Given the description of an element on the screen output the (x, y) to click on. 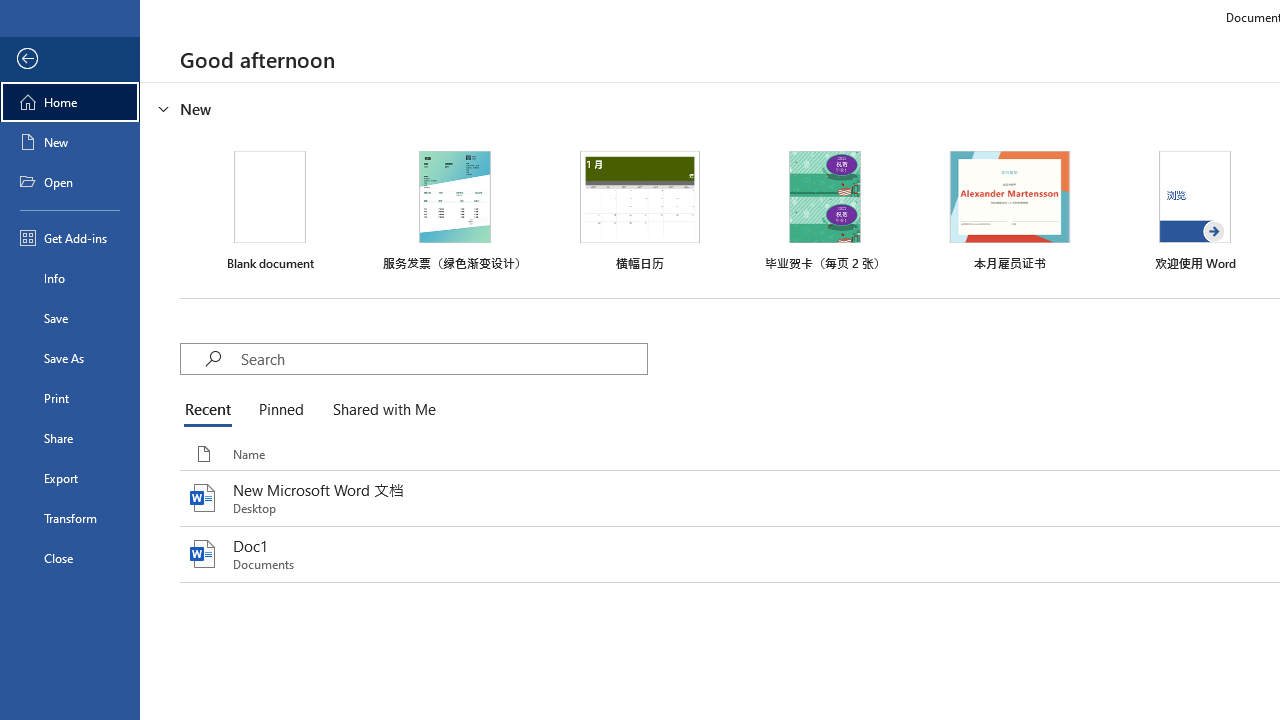
Shared with Me (379, 410)
Pinned (280, 410)
Open (69, 182)
Save As (69, 357)
Info (69, 277)
Print (69, 398)
Hide or show region (164, 108)
